Given the description of an element on the screen output the (x, y) to click on. 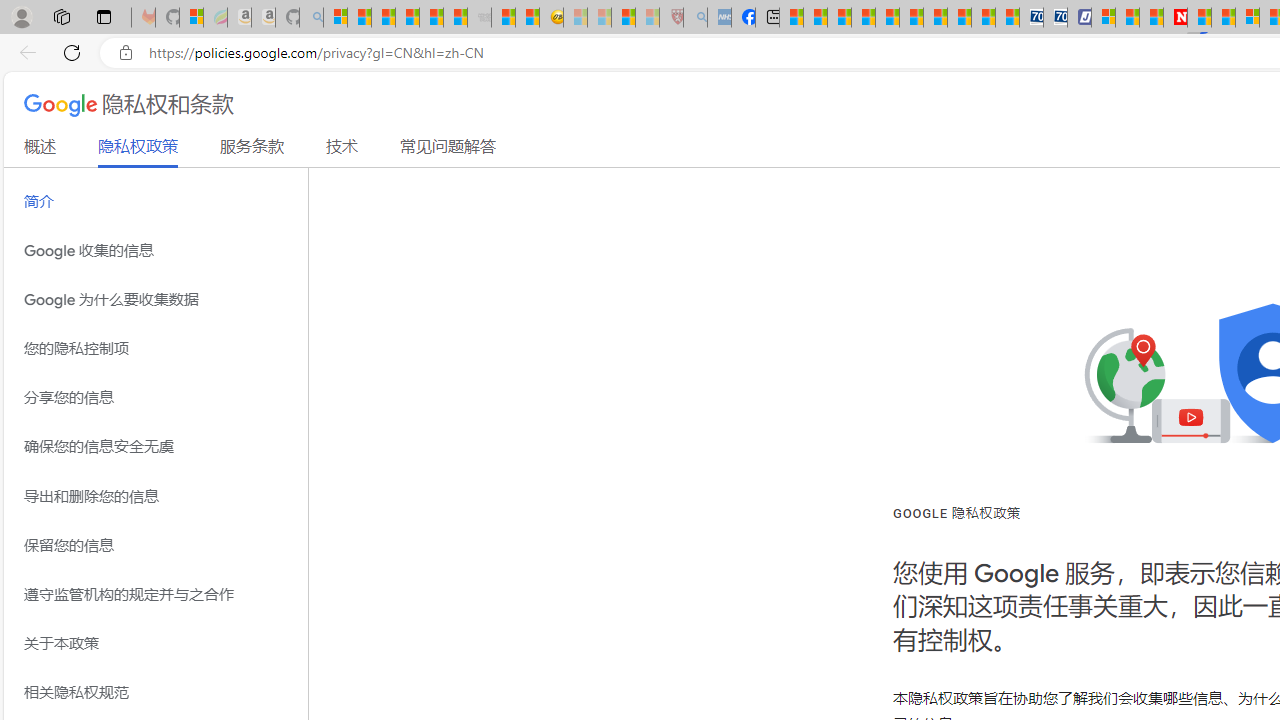
12 Popular Science Lies that Must be Corrected - Sleeping (647, 17)
